Given the description of an element on the screen output the (x, y) to click on. 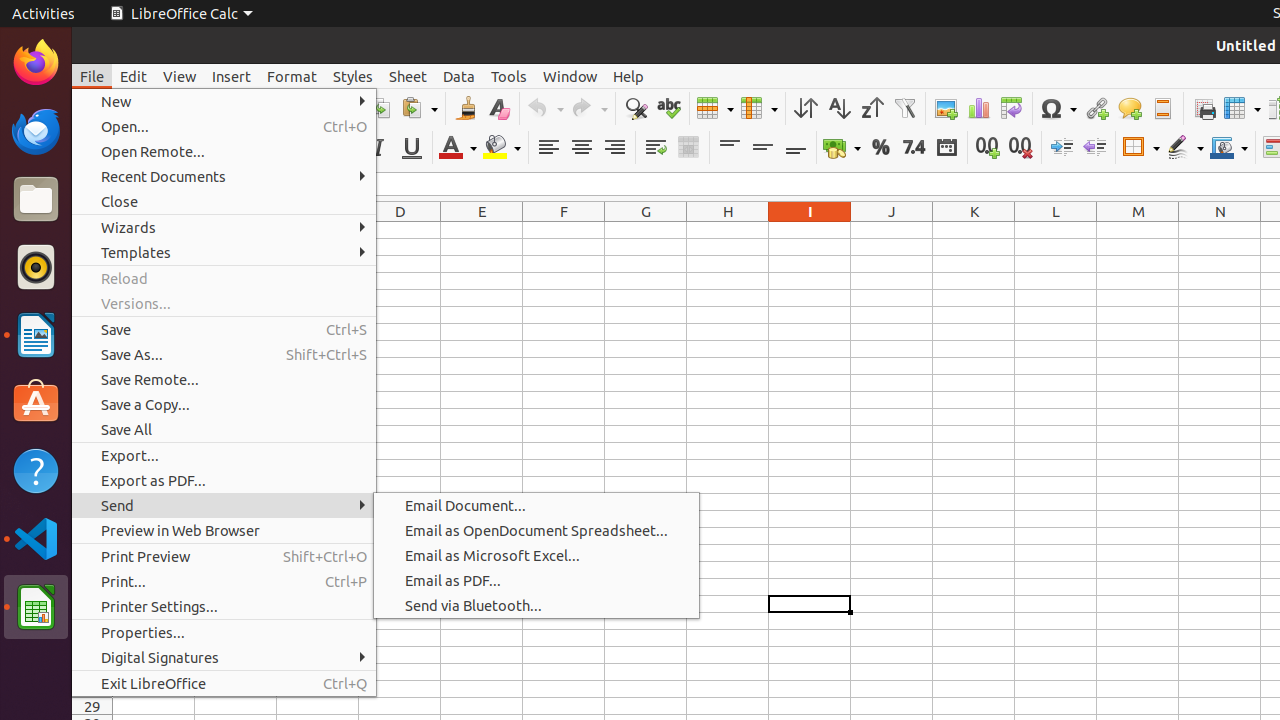
I1 Element type: table-cell (810, 230)
Close Element type: menu-item (224, 201)
Currency Element type: push-button (842, 147)
Save Element type: menu-item (224, 329)
Email as Microsoft Excel... Element type: menu-item (536, 555)
